Given the description of an element on the screen output the (x, y) to click on. 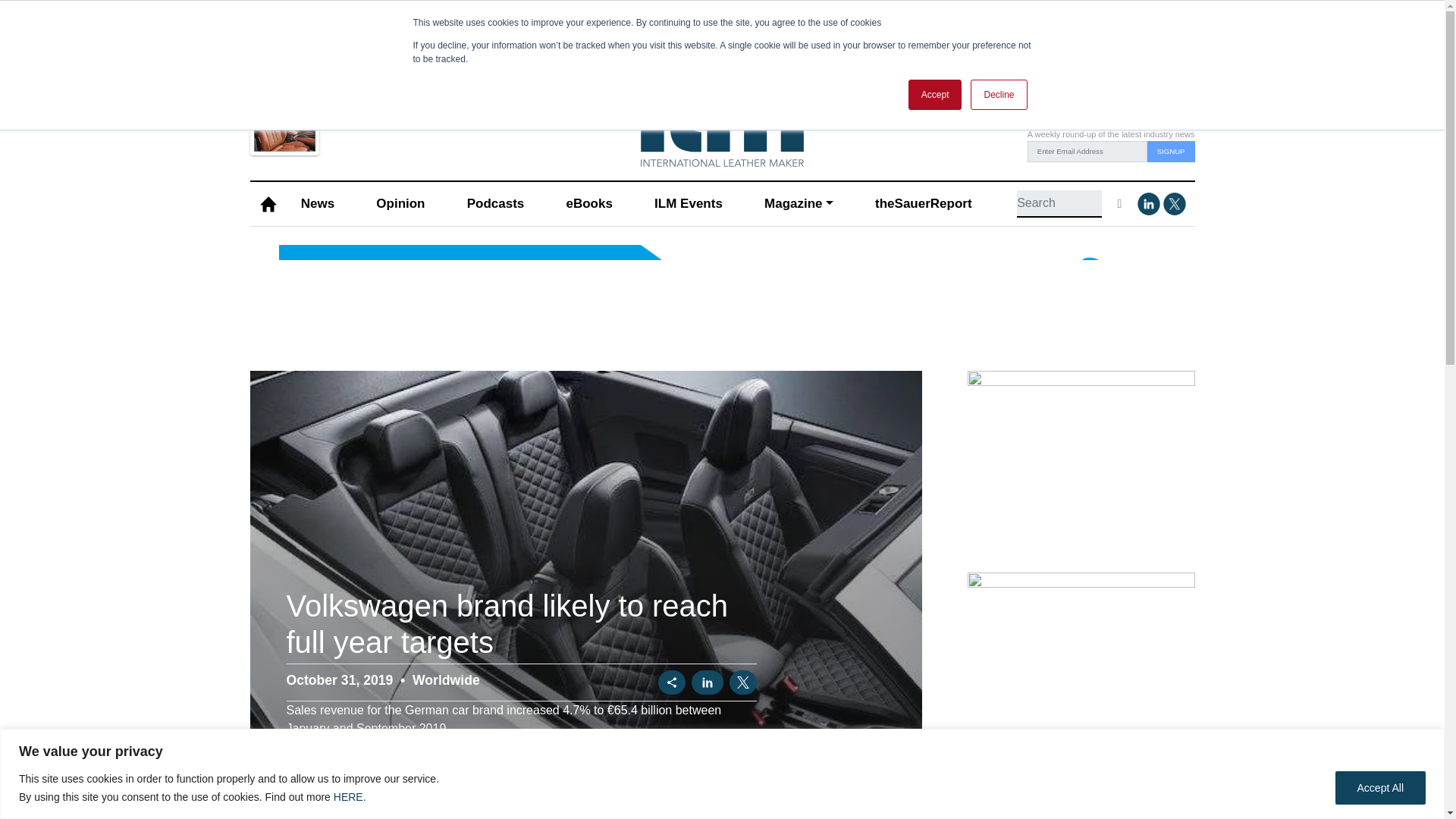
Login (1012, 54)
ILM Events (688, 204)
theSauerReport (922, 204)
Click here to find out more (722, 301)
Podcasts (494, 204)
About Us (1055, 54)
Accept All (1380, 786)
SUBSCRIBE (369, 111)
HERE. (349, 796)
